Given the description of an element on the screen output the (x, y) to click on. 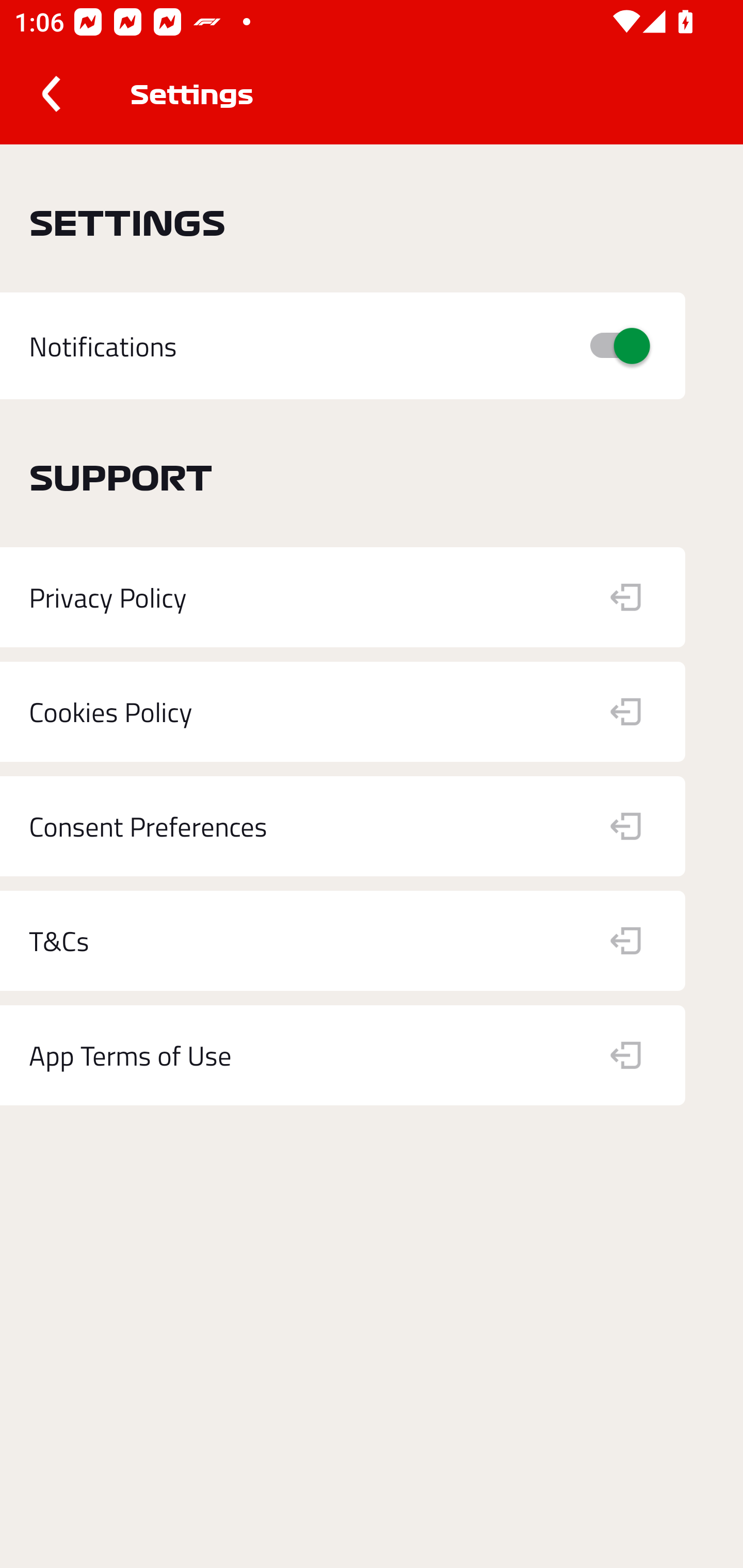
Navigate up (50, 93)
Notifications (342, 346)
Privacy Policy (342, 597)
Cookies Policy (342, 711)
Consent Preferences (342, 826)
T&Cs (342, 940)
App Terms of Use (342, 1055)
